Given the description of an element on the screen output the (x, y) to click on. 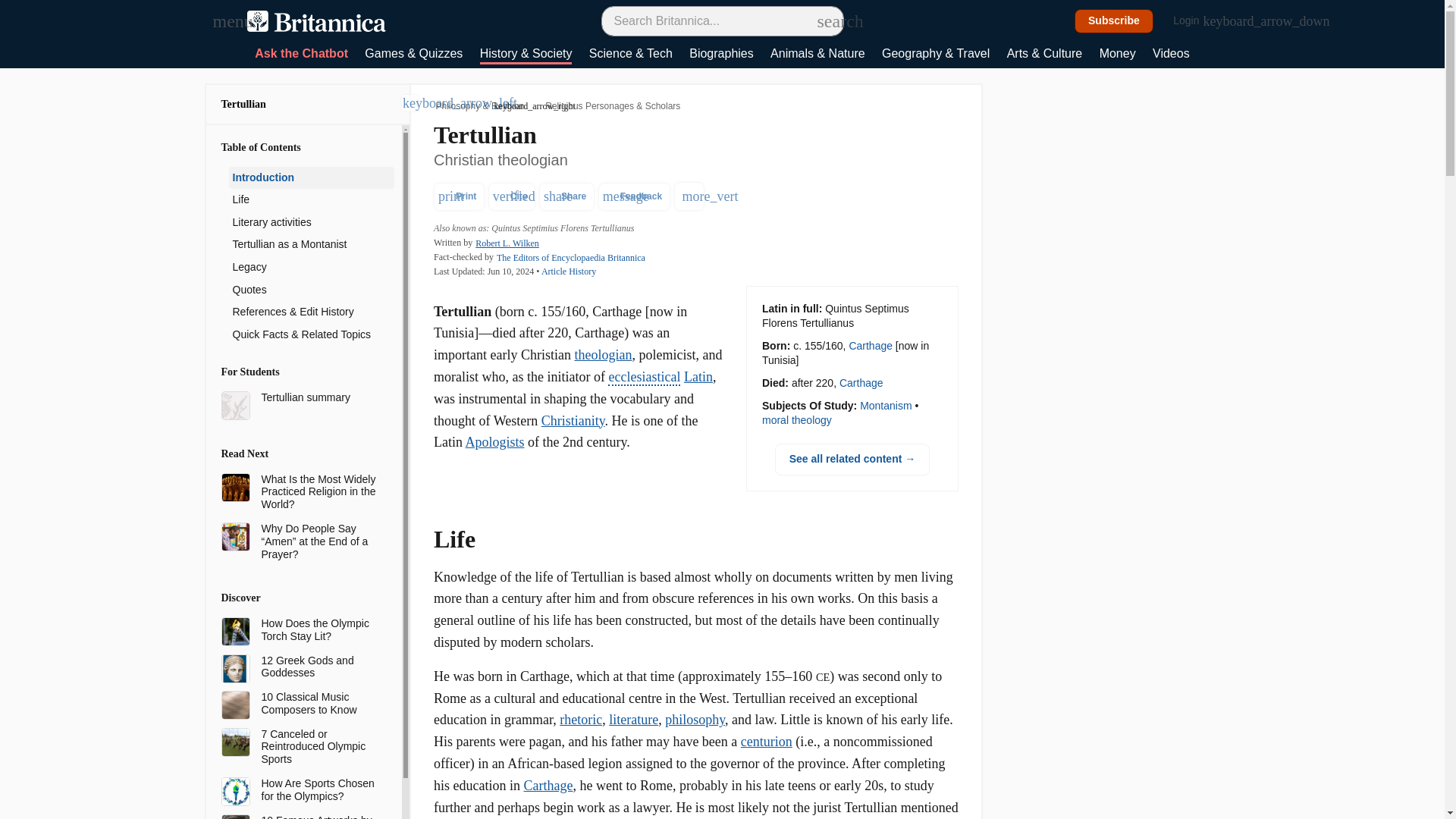
Biographies (721, 54)
Tertullian (243, 103)
What Is the Most Widely Practiced Religion in the World? (320, 492)
Introduction (311, 178)
Quotes (311, 290)
Legacy (311, 267)
Ask the Chatbot (300, 54)
Videos (1171, 54)
Click here to search (825, 20)
Tertullian summary (320, 397)
Life (311, 200)
Money (1117, 54)
Literary activities (311, 222)
How Does the Olympic Torch Stay Lit? (320, 629)
Login (1194, 20)
